Given the description of an element on the screen output the (x, y) to click on. 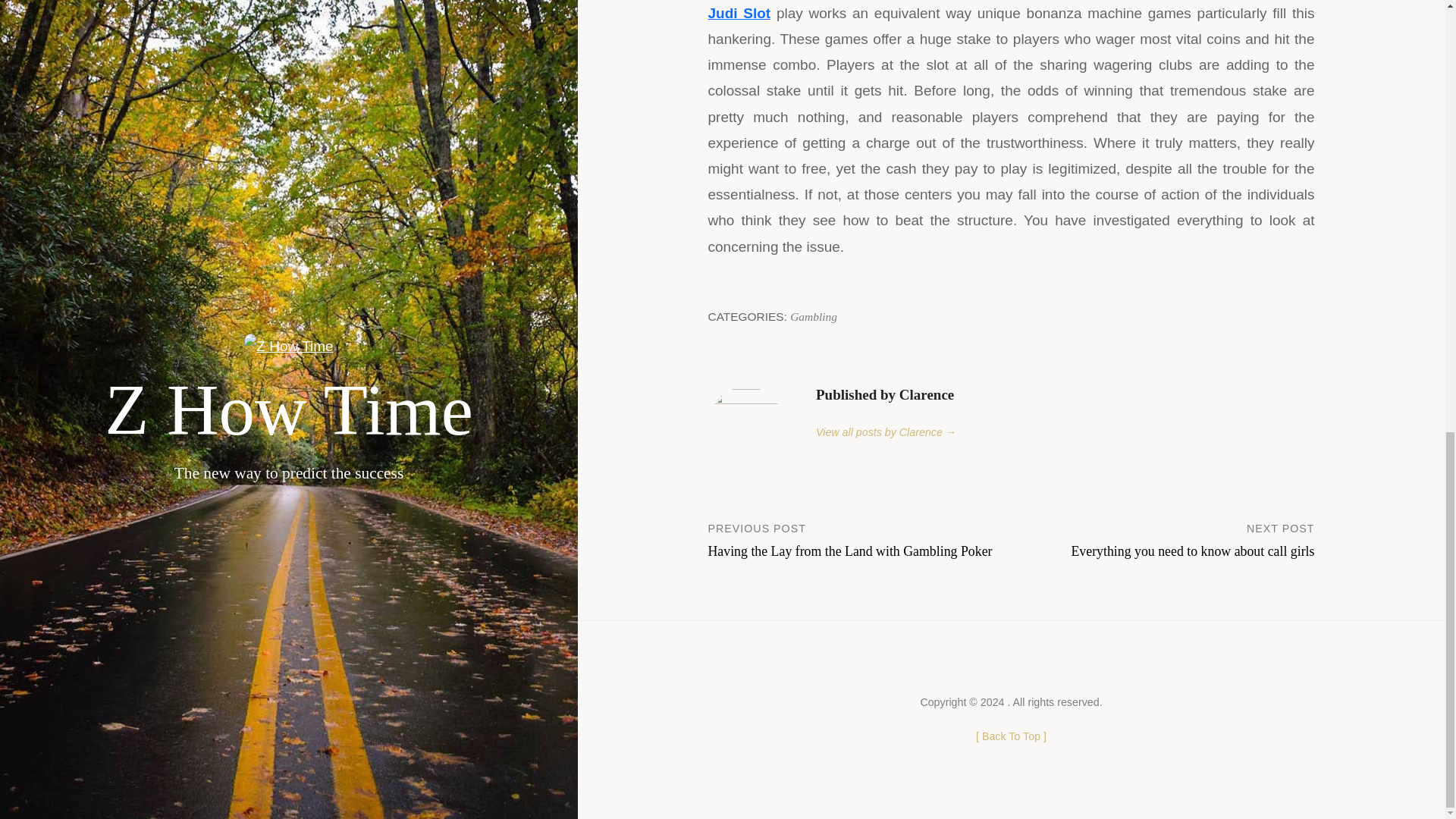
Agen Judi Slot (1010, 10)
Back To Top (1010, 736)
Gambling (813, 316)
